Given the description of an element on the screen output the (x, y) to click on. 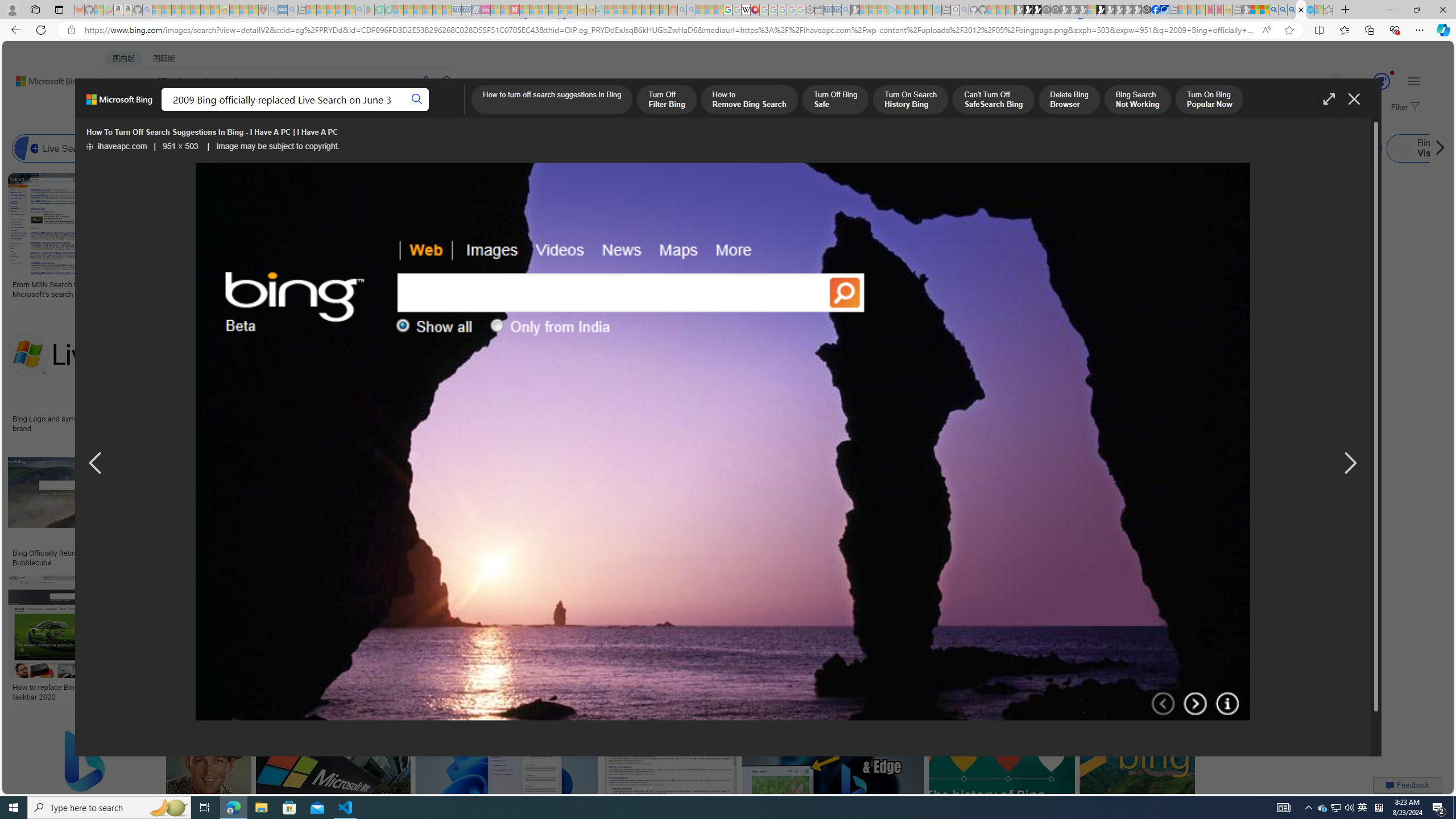
Microsoft Bing Search | Enfew (1162, 423)
Nordace - Cooler Bags (1146, 9)
New Report Confirms 2023 Was Record Hot | Watch - Sleeping (195, 9)
DICT (407, 111)
DICT (407, 111)
